Given the description of an element on the screen output the (x, y) to click on. 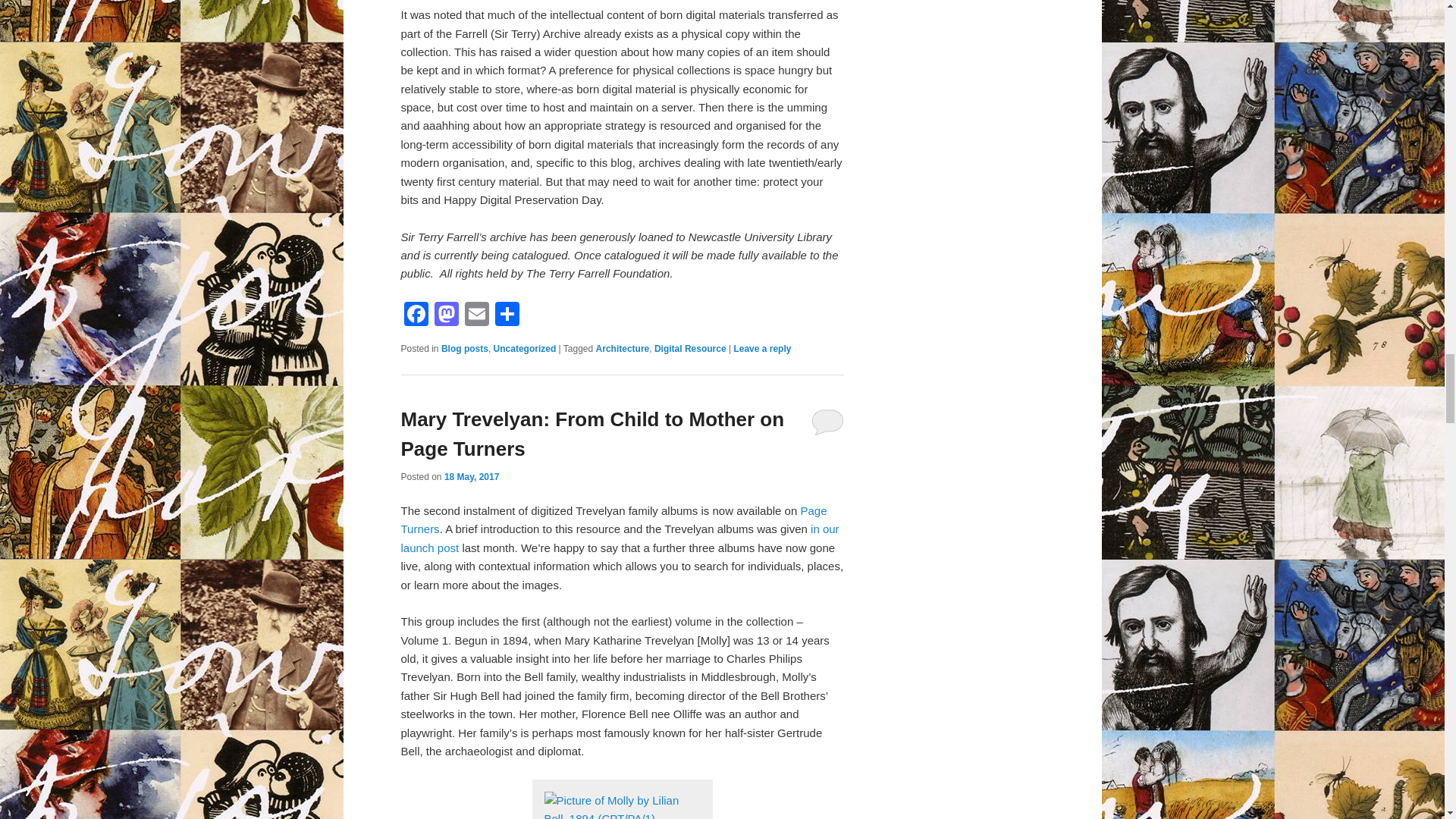
Mary Trevelyan: From Child to Mother on Page Turners (592, 433)
Mastodon (445, 316)
Digital Resource (689, 348)
Blog posts (464, 348)
Uncategorized (524, 348)
in our launch post (619, 537)
Email (476, 316)
Architecture (622, 348)
Leave a reply (761, 348)
Mastodon (445, 316)
